Given the description of an element on the screen output the (x, y) to click on. 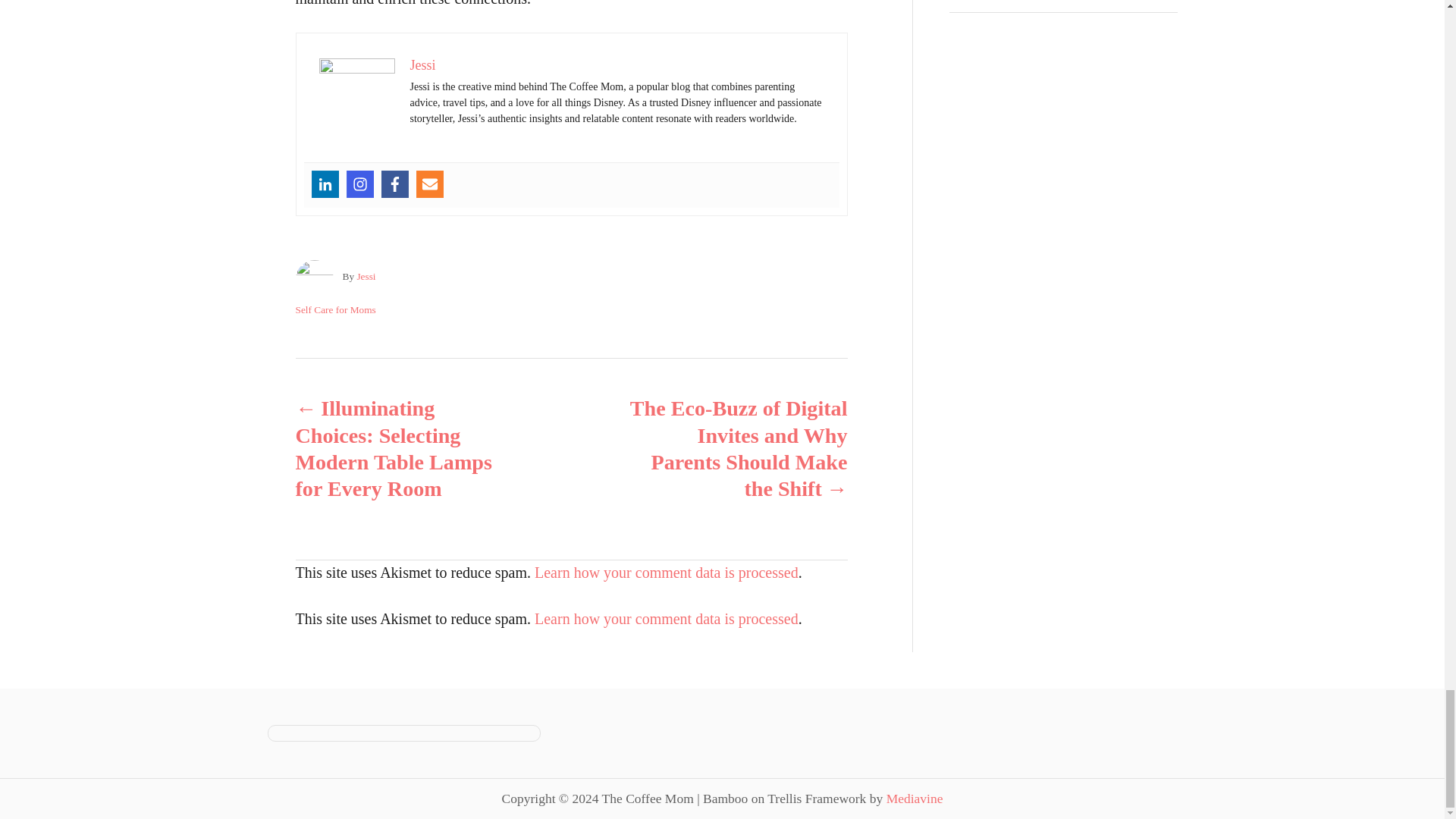
User email (428, 184)
Facebook (393, 184)
Self Care for Moms (335, 309)
Jessi (365, 276)
Linkedin (324, 184)
Jessi (422, 64)
Instagram (359, 184)
